Given the description of an element on the screen output the (x, y) to click on. 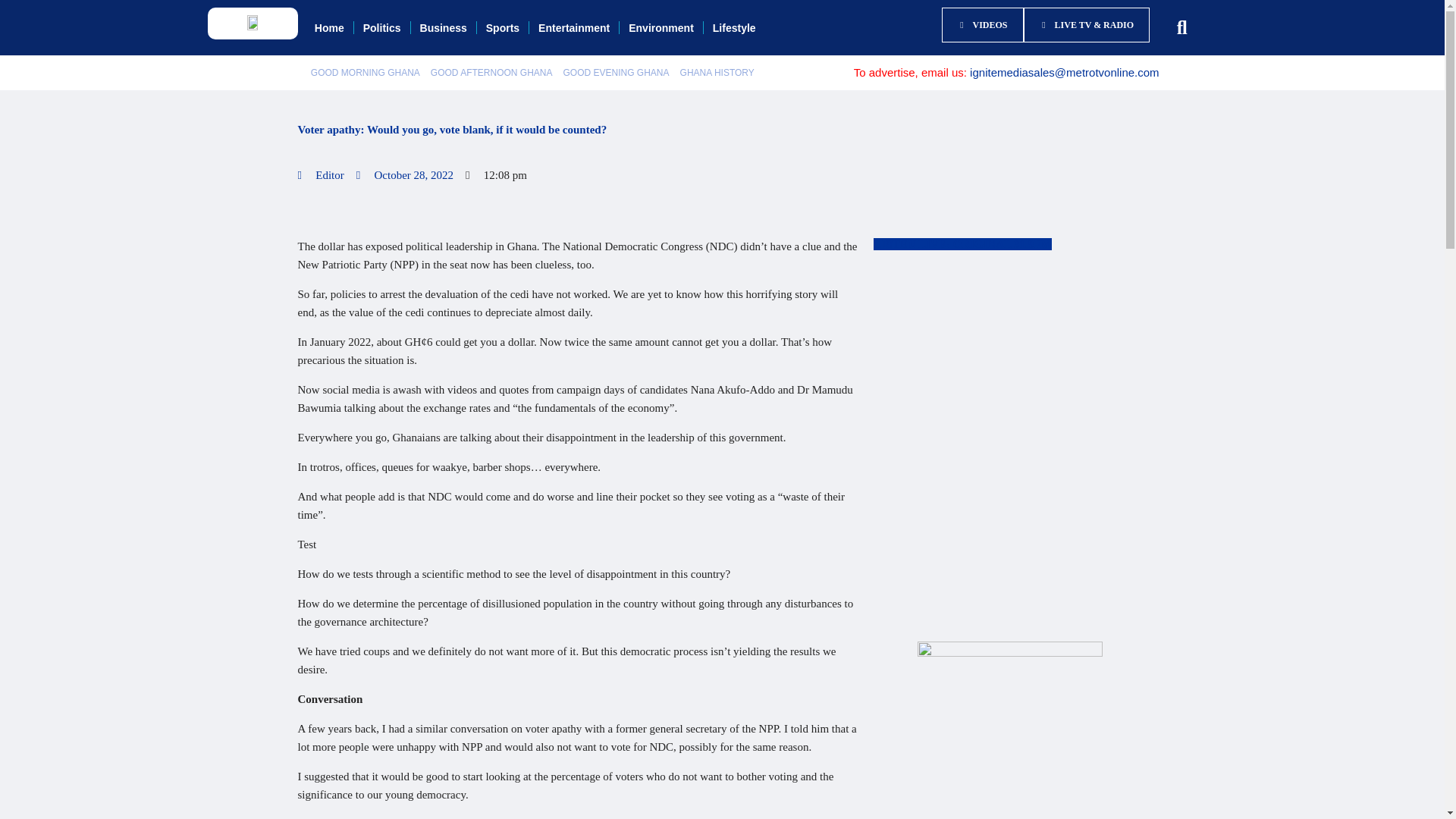
GHANA HISTORY (717, 72)
GOOD AFTERNOON GHANA (491, 72)
Business (443, 27)
Environment (661, 27)
GOOD EVENING GHANA (616, 72)
Home (329, 27)
GOOD MORNING GHANA (365, 72)
Sports (502, 27)
Lifestyle (734, 27)
Politics (381, 27)
